Given the description of an element on the screen output the (x, y) to click on. 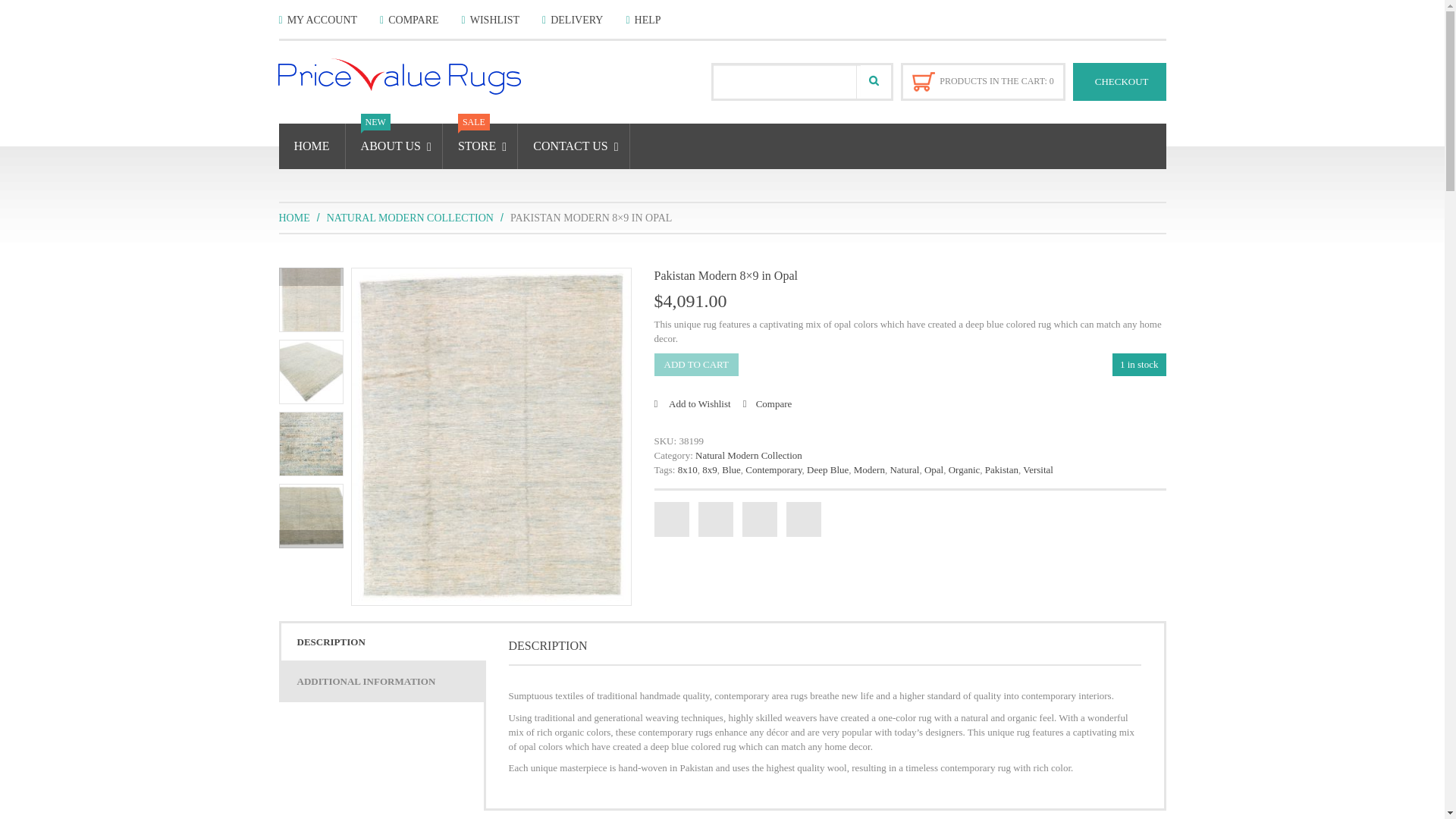
CHECKOUT (1119, 81)
Rugs: Best Quality at Wholesale Prices (416, 76)
DELIVERY (571, 19)
HOME (294, 217)
HOME (312, 145)
MY ACCOUNT (318, 19)
HELP (643, 19)
COMPARE (409, 19)
WISHLIST (490, 19)
